Given the description of an element on the screen output the (x, y) to click on. 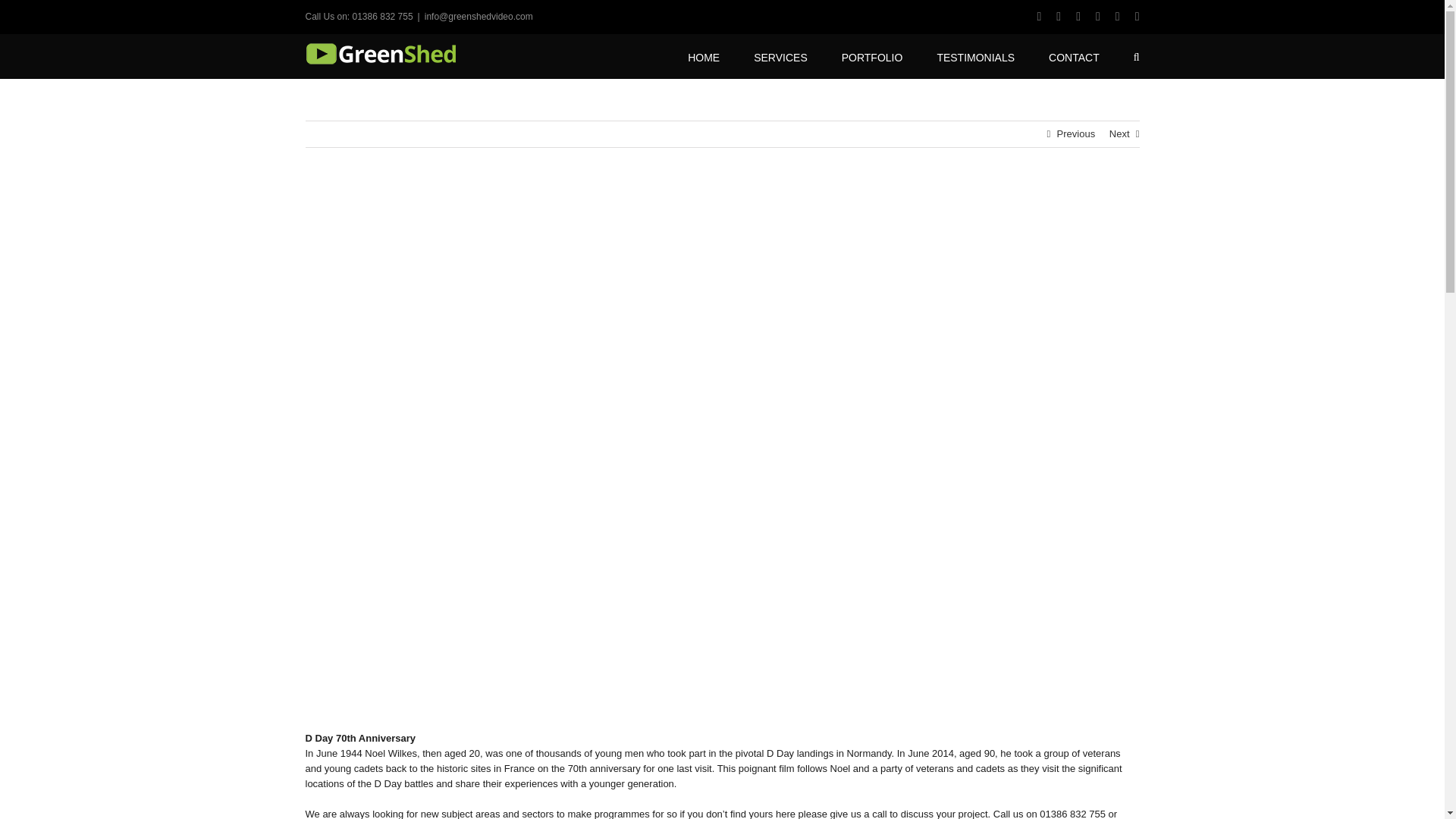
SERVICES (781, 55)
TESTIMONIALS (975, 55)
CONTACT (1073, 55)
PORTFOLIO (871, 55)
